Given the description of an element on the screen output the (x, y) to click on. 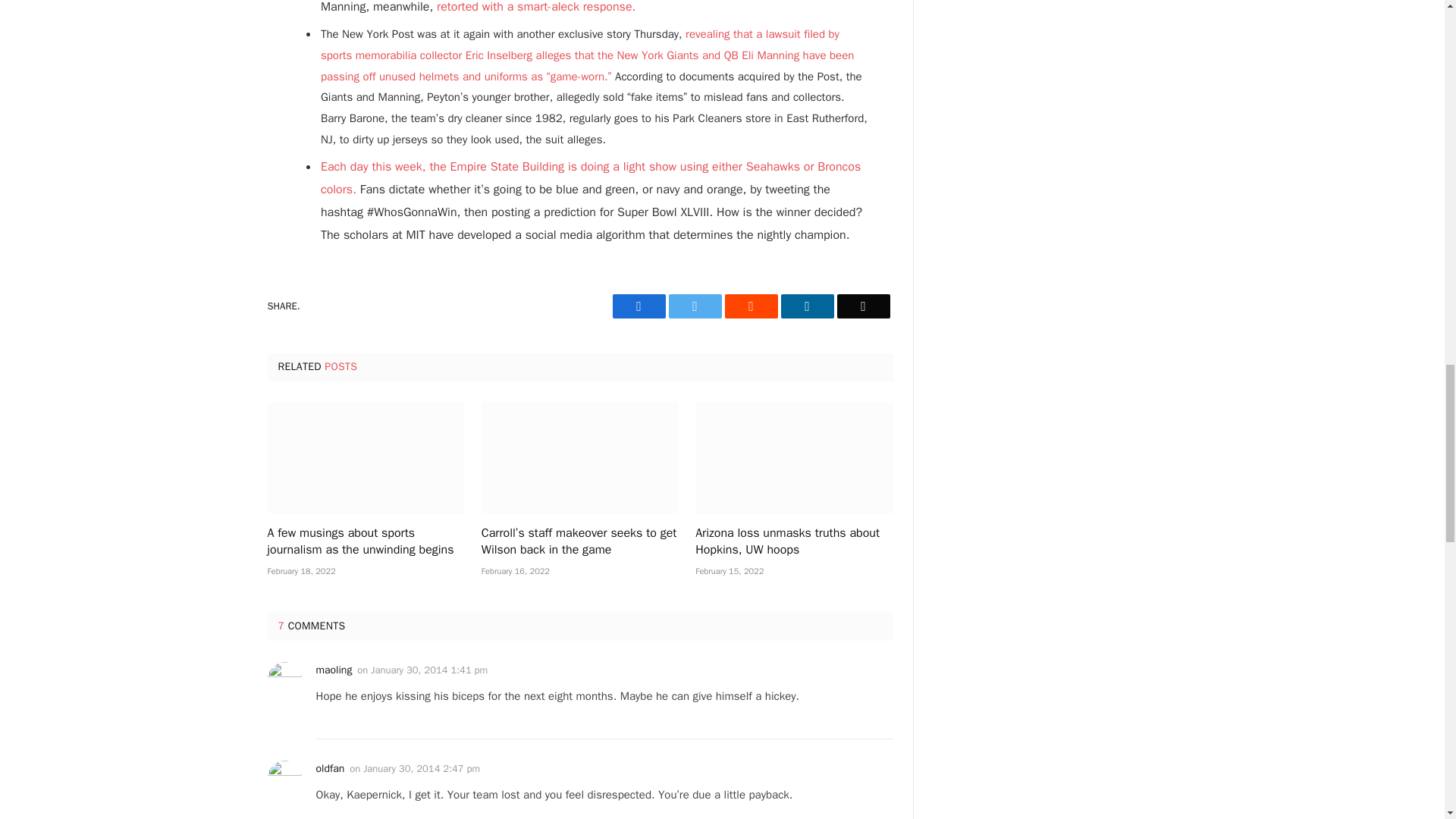
Facebook (638, 306)
retorted with a smart-aleck response.  (537, 7)
